Given the description of an element on the screen output the (x, y) to click on. 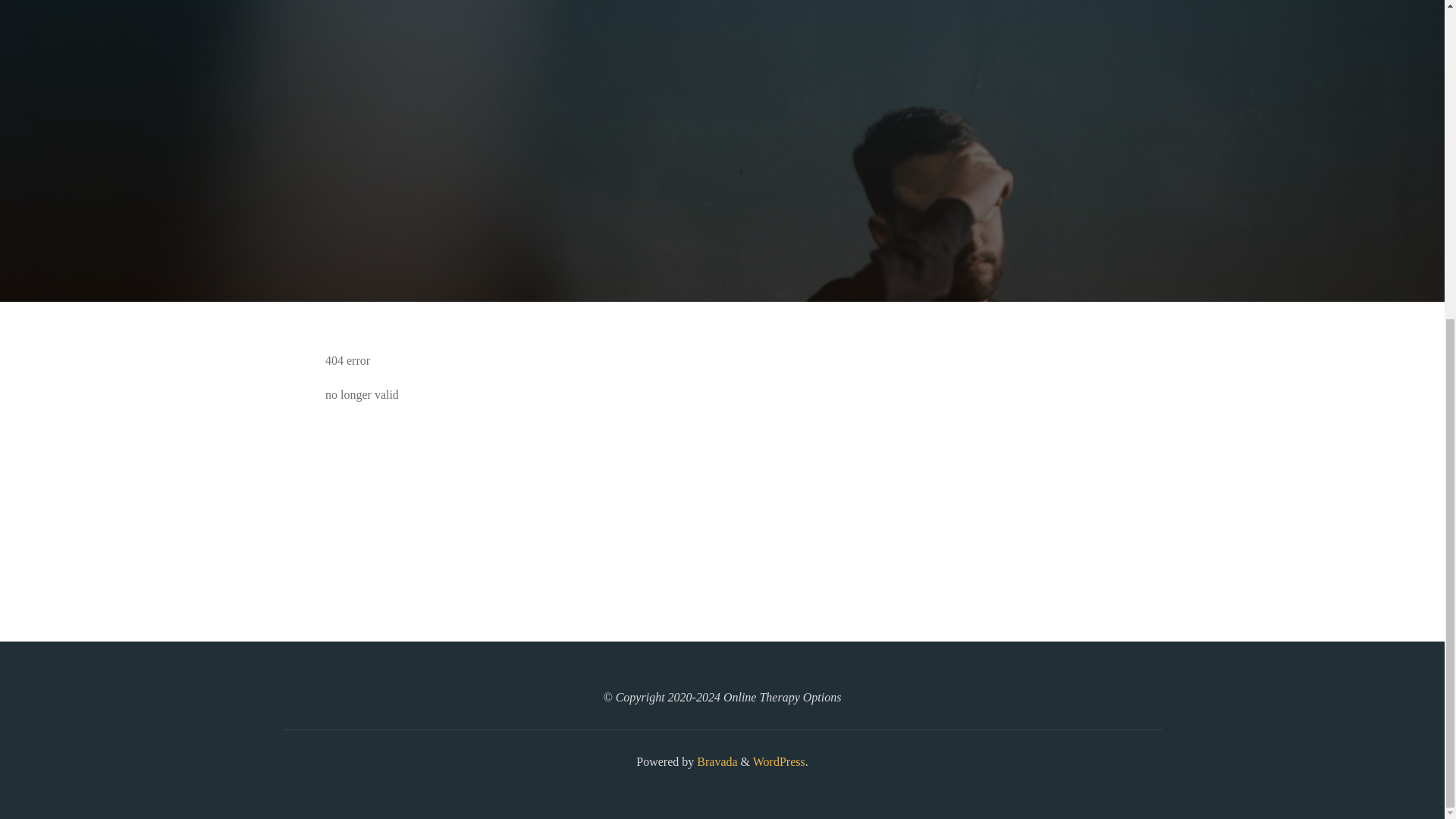
Semantic Personal Publishing Platform (778, 761)
Bravada WordPress Theme by Cryout Creations (715, 761)
Bravada (715, 761)
WordPress (778, 761)
Read more (721, 207)
